Given the description of an element on the screen output the (x, y) to click on. 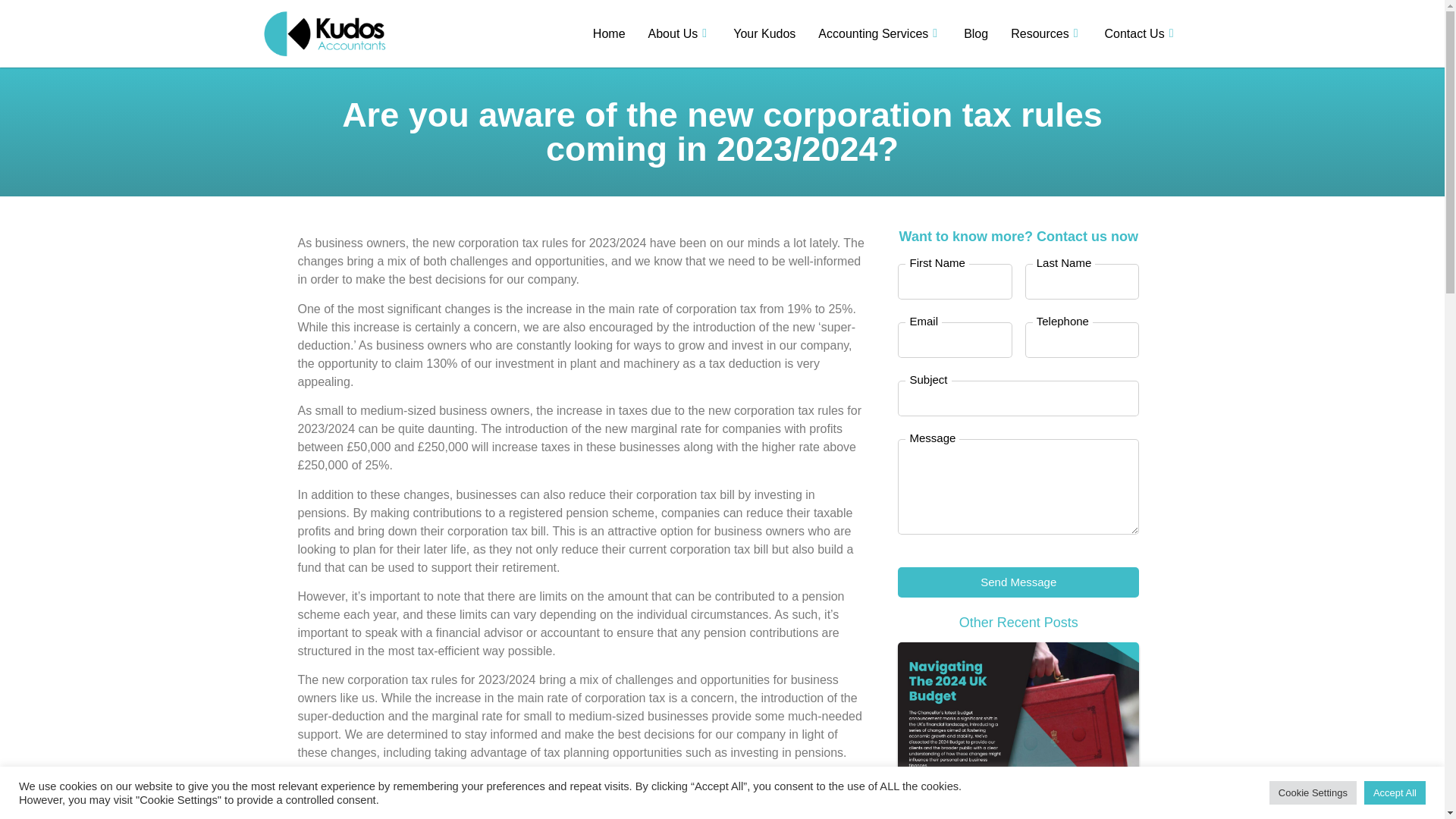
Accounting Services (879, 34)
Your Kudos (764, 34)
Home (608, 34)
Resources (1045, 34)
Contact Us (1141, 34)
Blog (975, 34)
About Us (679, 34)
